Given the description of an element on the screen output the (x, y) to click on. 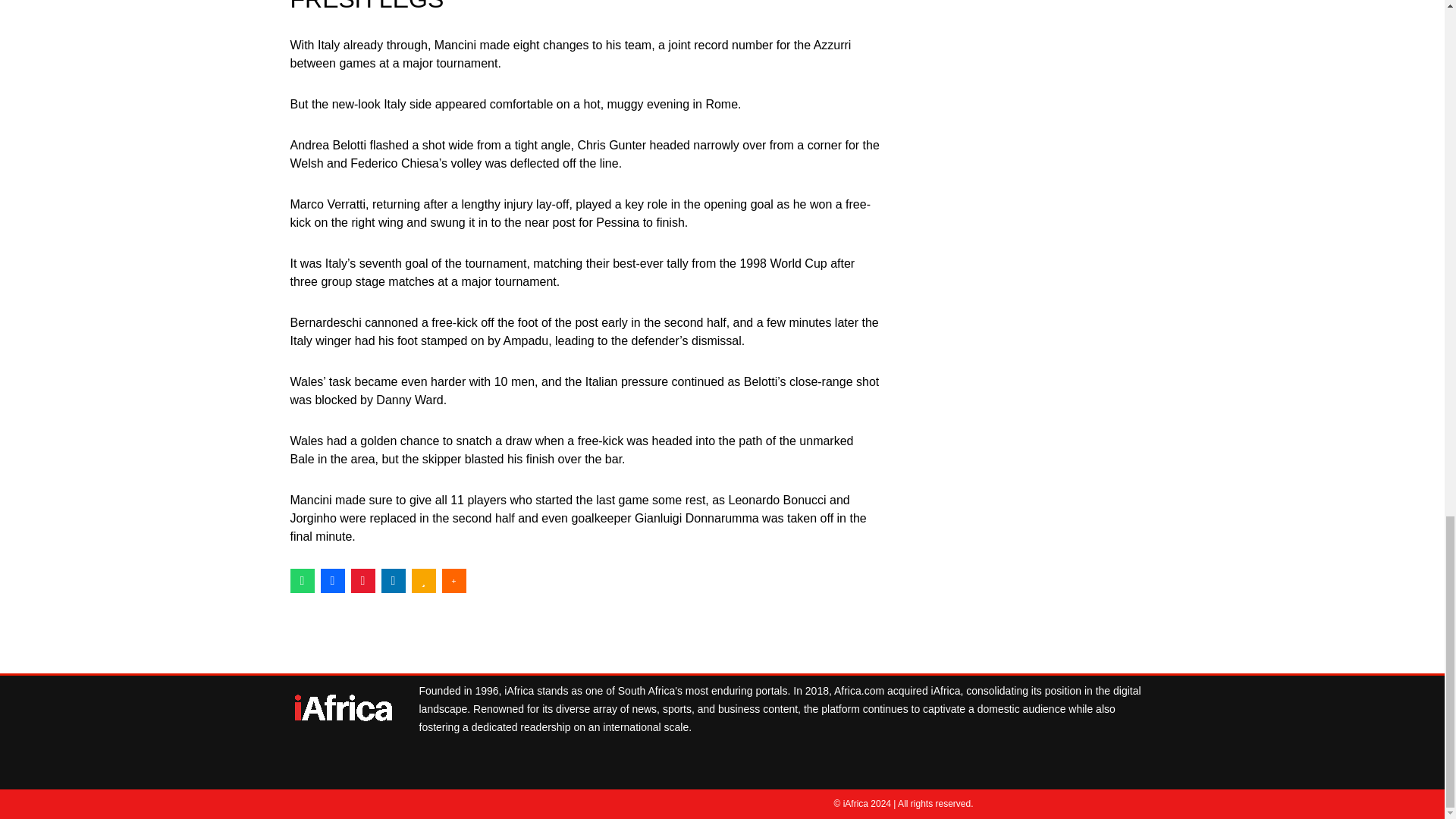
Convert to PDF (362, 580)
More share links (453, 580)
Add to favorites (422, 580)
Add this to LinkedIn (392, 580)
Share this on Facebook (331, 580)
WhatsApp (301, 580)
